Given the description of an element on the screen output the (x, y) to click on. 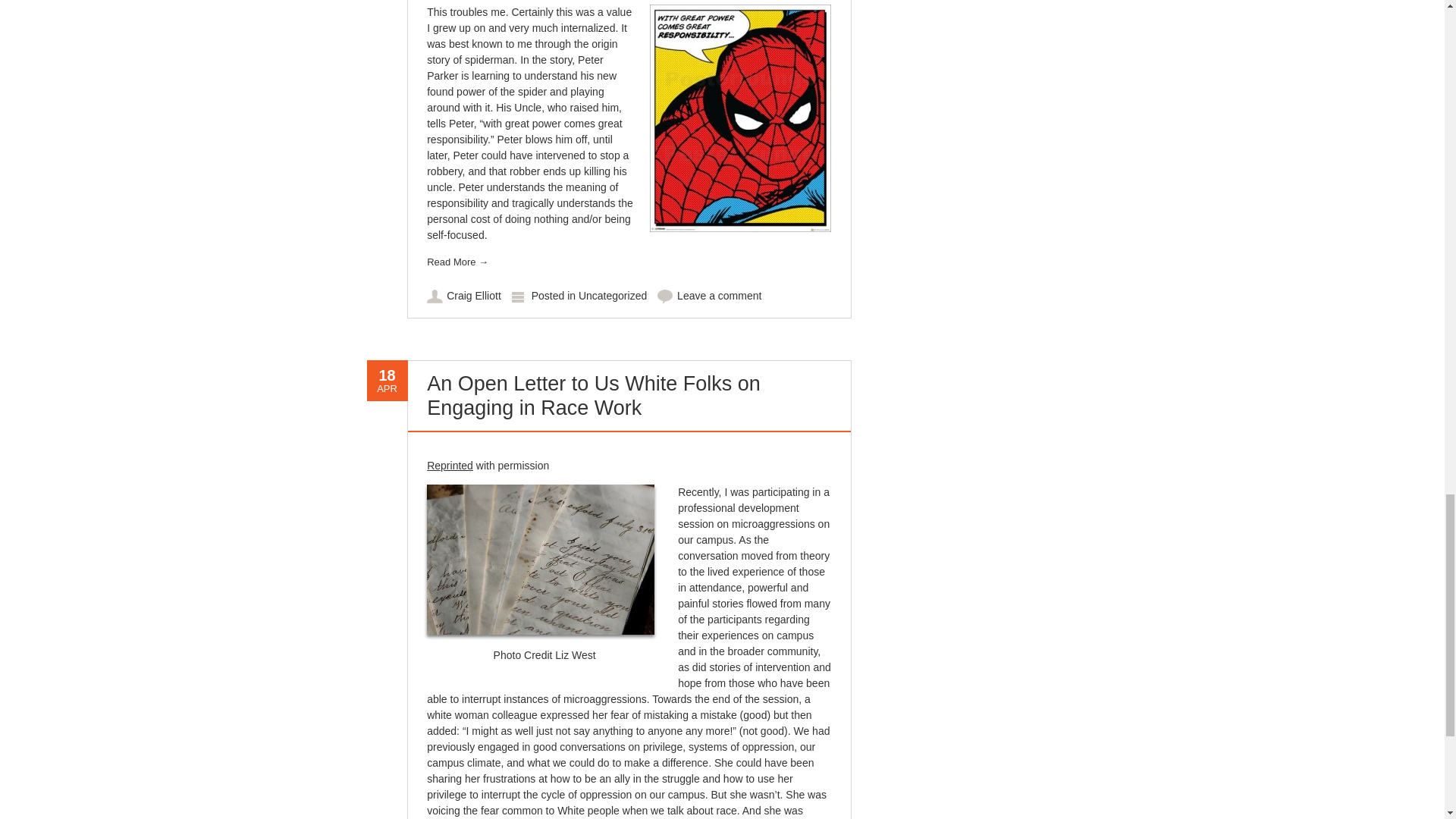
An Open Letter to Us White Folks on Engaging in Race Work (593, 395)
Uncategorized (612, 295)
Craig Elliott (473, 295)
Open Letter (449, 465)
Reprinted (449, 465)
Leave a comment (719, 295)
